Given the description of an element on the screen output the (x, y) to click on. 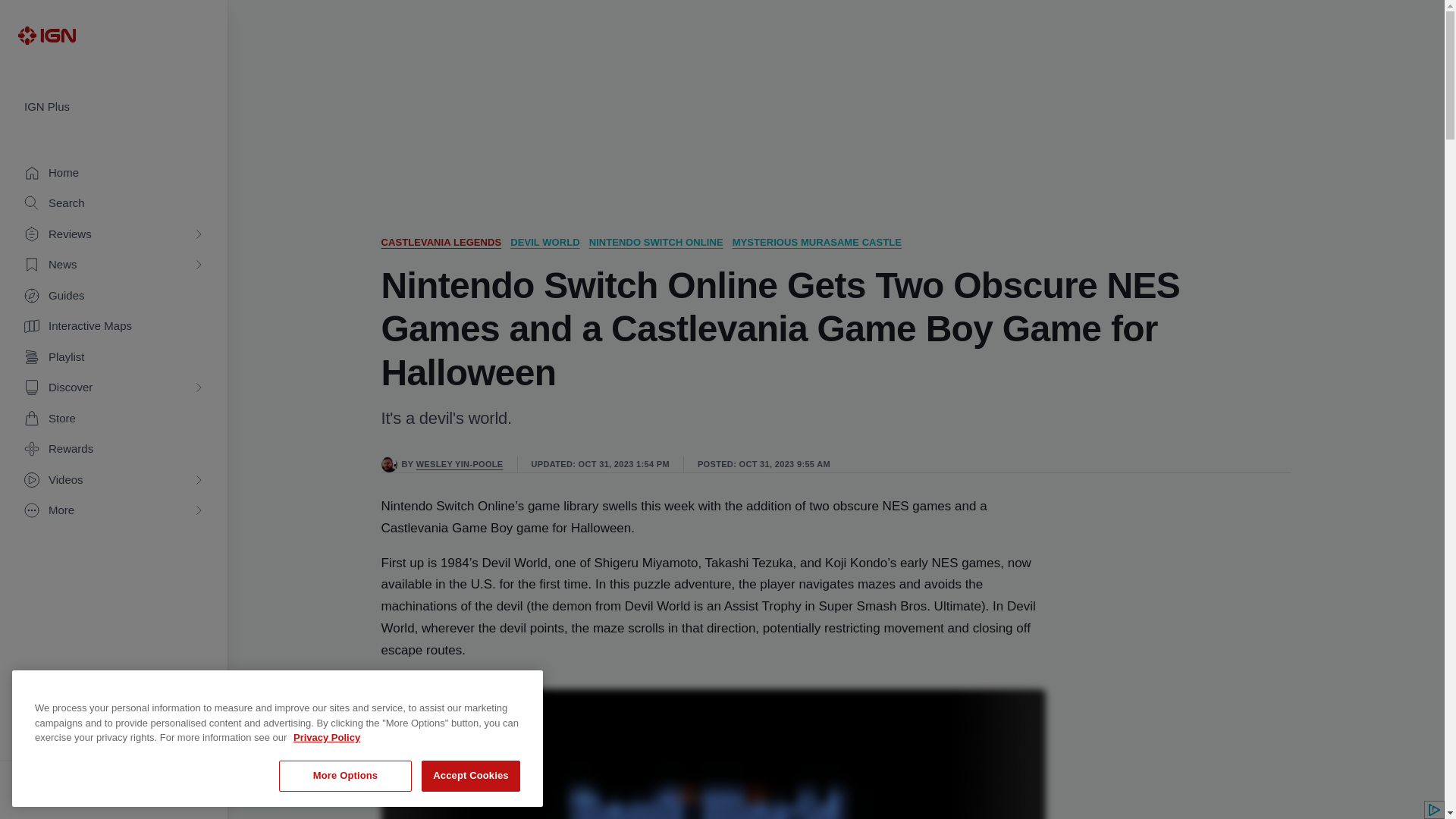
Rewards (113, 449)
Home (113, 172)
Guides (113, 295)
Playlist (113, 357)
Videos (113, 480)
More (113, 510)
Store (113, 418)
News (113, 265)
IGN Logo (46, 35)
IGN Plus (113, 107)
